Given the description of an element on the screen output the (x, y) to click on. 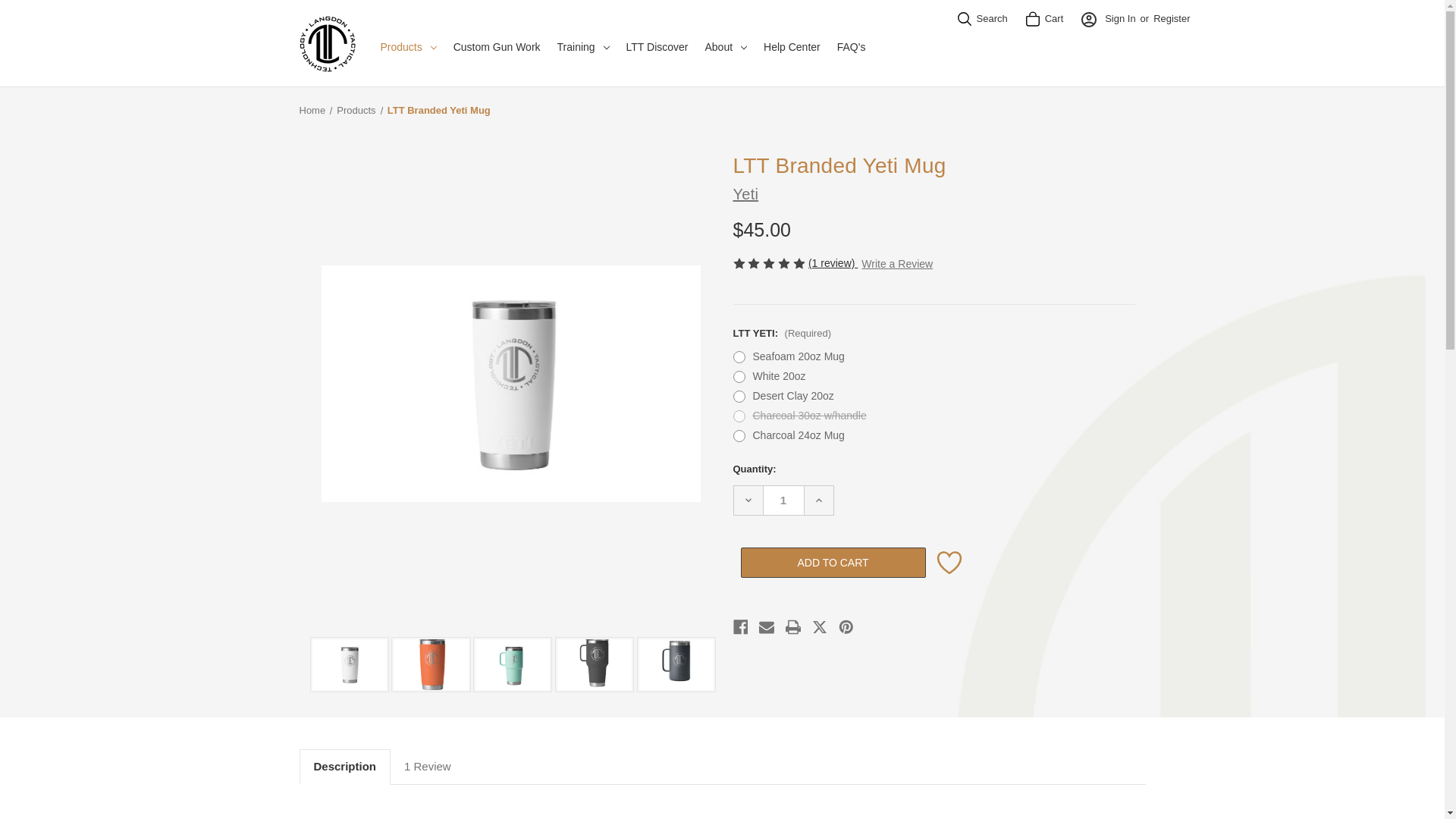
Facebook (740, 627)
Products (407, 49)
Print (793, 627)
20oz Seafoam Rambler (513, 664)
Pinterest (845, 627)
1 (783, 500)
Langdon Tactical (326, 43)
Twitter (819, 627)
20oz Desert Clay (430, 664)
Add to Cart (831, 562)
